Given the description of an element on the screen output the (x, y) to click on. 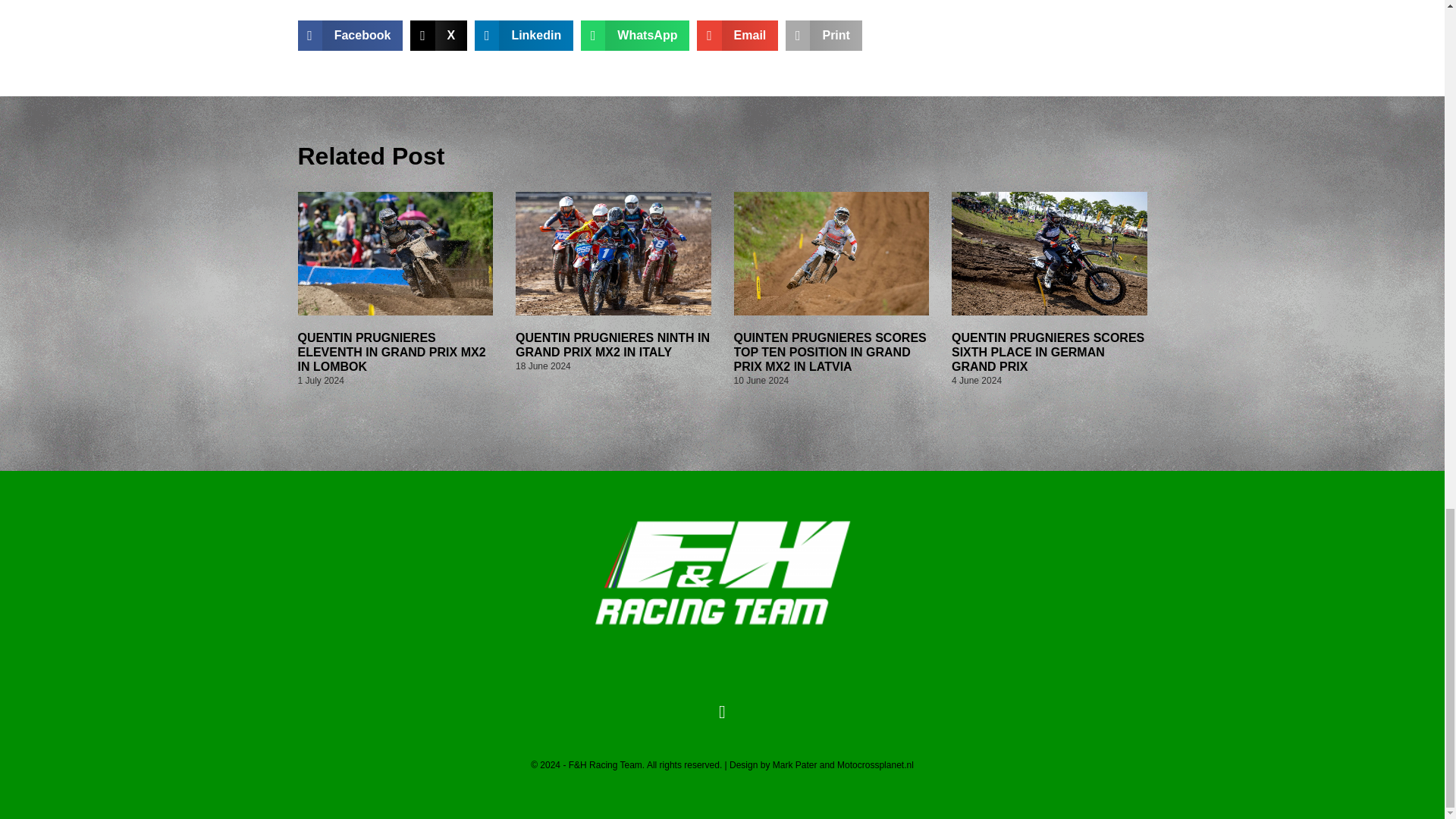
QUENTIN PRUGNIERES ELEVENTH IN GRAND PRIX MX2 IN LOMBOK (390, 352)
1 July 2024 (320, 380)
QUENTIN PRUGNIERES NINTH IN GRAND PRIX MX2 IN ITALY (612, 344)
18 June 2024 (542, 366)
10 June 2024 (761, 380)
